Given the description of an element on the screen output the (x, y) to click on. 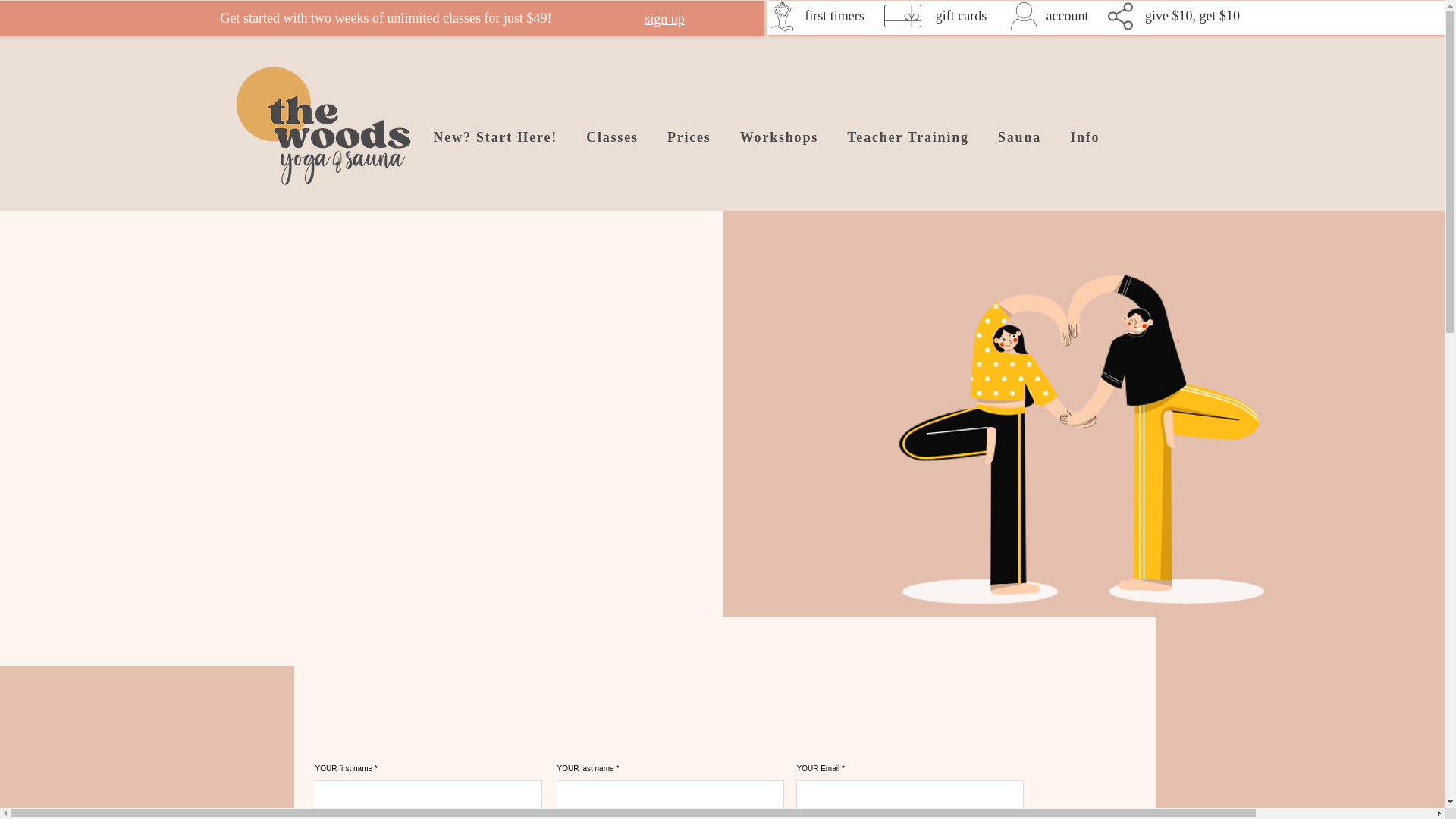
gift cards (961, 15)
sign up (664, 18)
first timers (834, 15)
account (1067, 15)
